Given the description of an element on the screen output the (x, y) to click on. 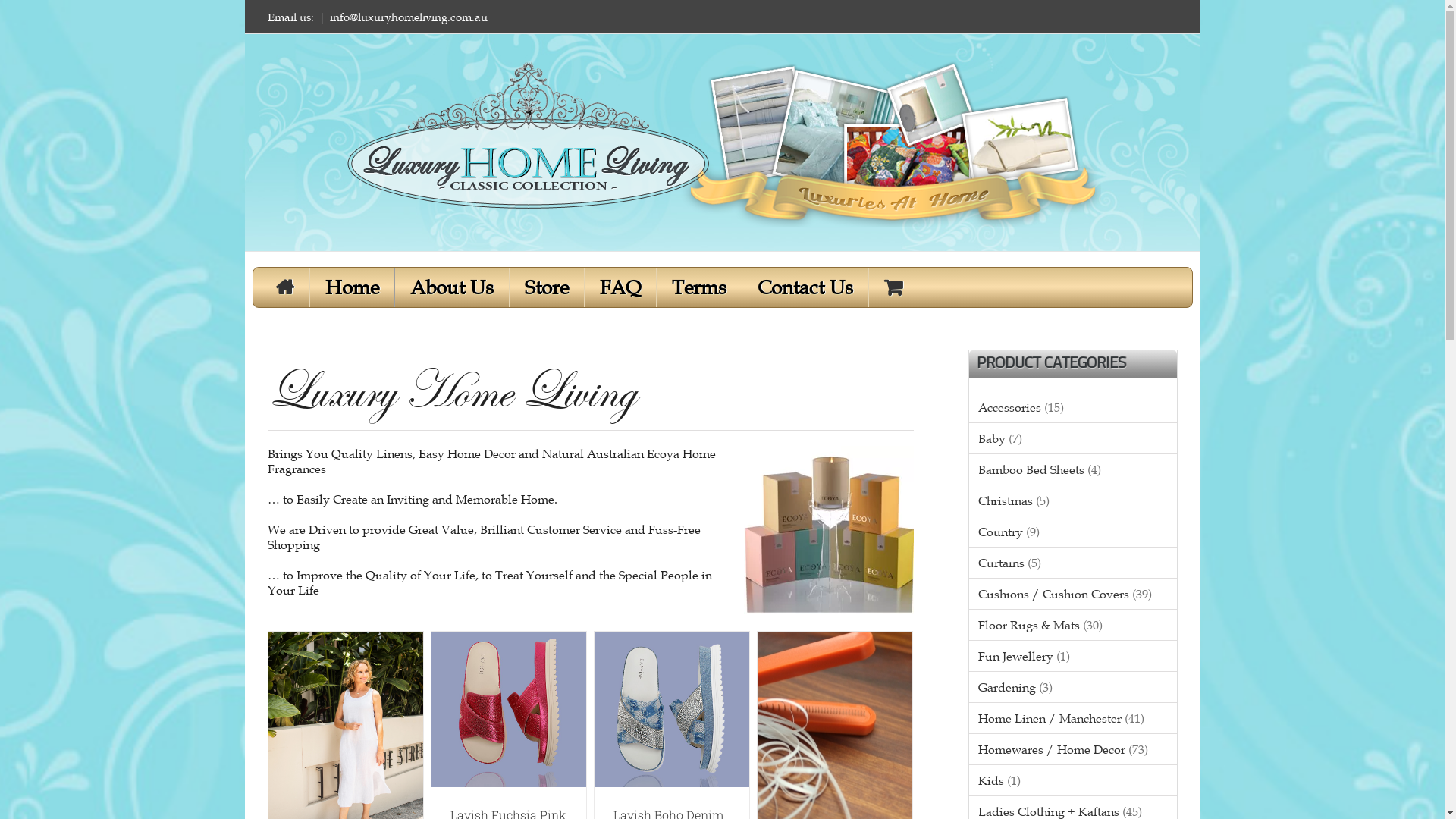
Store Element type: text (554, 287)
Baby Element type: text (991, 437)
Christmas Element type: text (1005, 500)
Accessories Element type: text (1009, 406)
Floor Rugs & Mats Element type: text (1028, 624)
Home Linen / Manchester Element type: text (1049, 717)
Terms Element type: text (706, 287)
About Us Element type: text (458, 287)
Country Element type: text (1000, 531)
info@luxuryhomeliving.com.au Element type: text (407, 16)
Bamboo Bed Sheets Element type: text (1031, 468)
Homewares / Home Decor Element type: text (1051, 748)
Curtains Element type: text (1001, 562)
Home Element type: text (359, 287)
FAQ Element type: text (627, 287)
Gardening Element type: text (1006, 686)
Kids Element type: text (991, 779)
Cushions / Cushion Covers Element type: text (1053, 593)
Contact Us Element type: text (812, 287)
Fun Jewellery Element type: text (1015, 655)
